Given the description of an element on the screen output the (x, y) to click on. 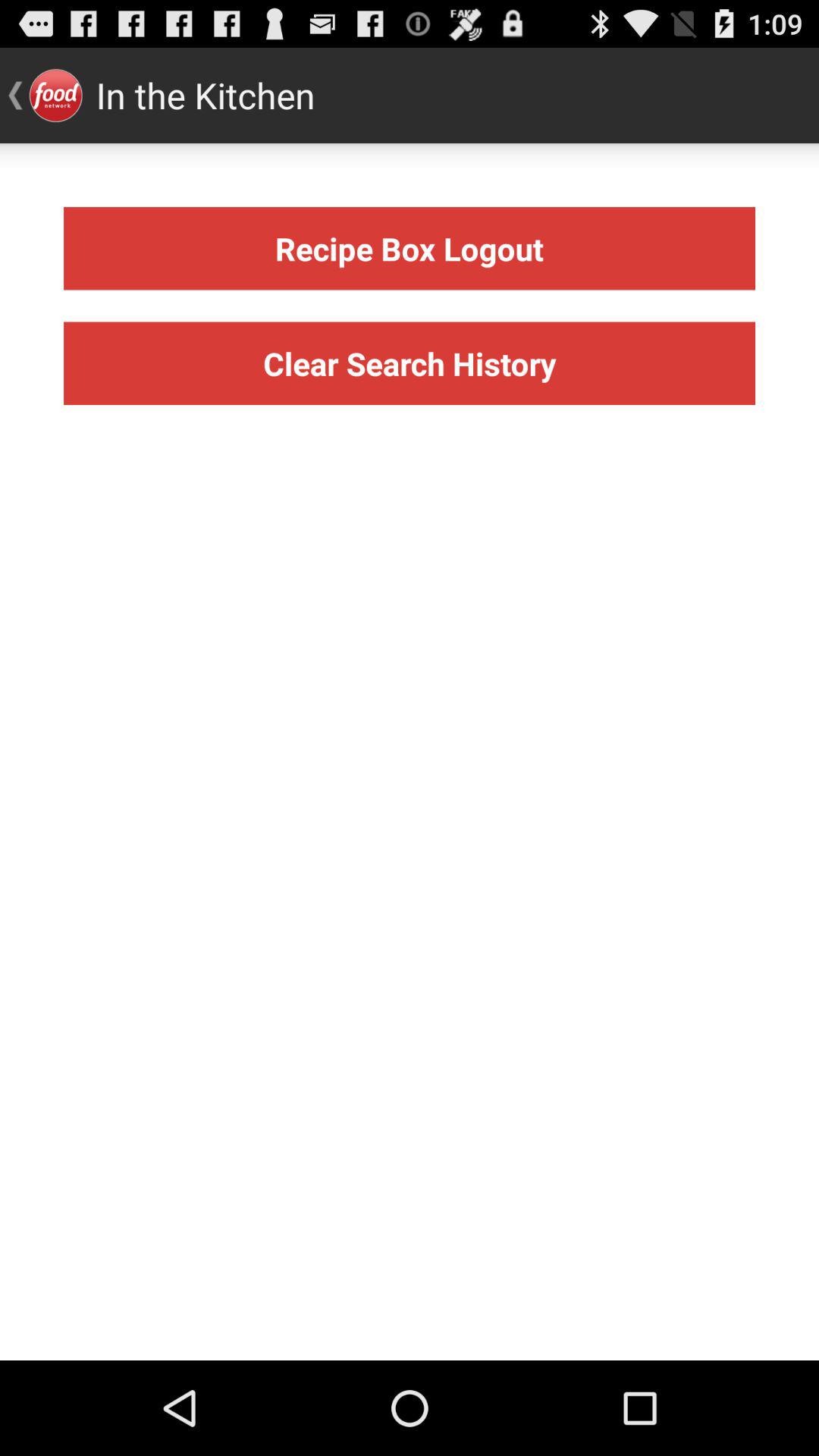
open the icon above clear search history item (409, 248)
